Given the description of an element on the screen output the (x, y) to click on. 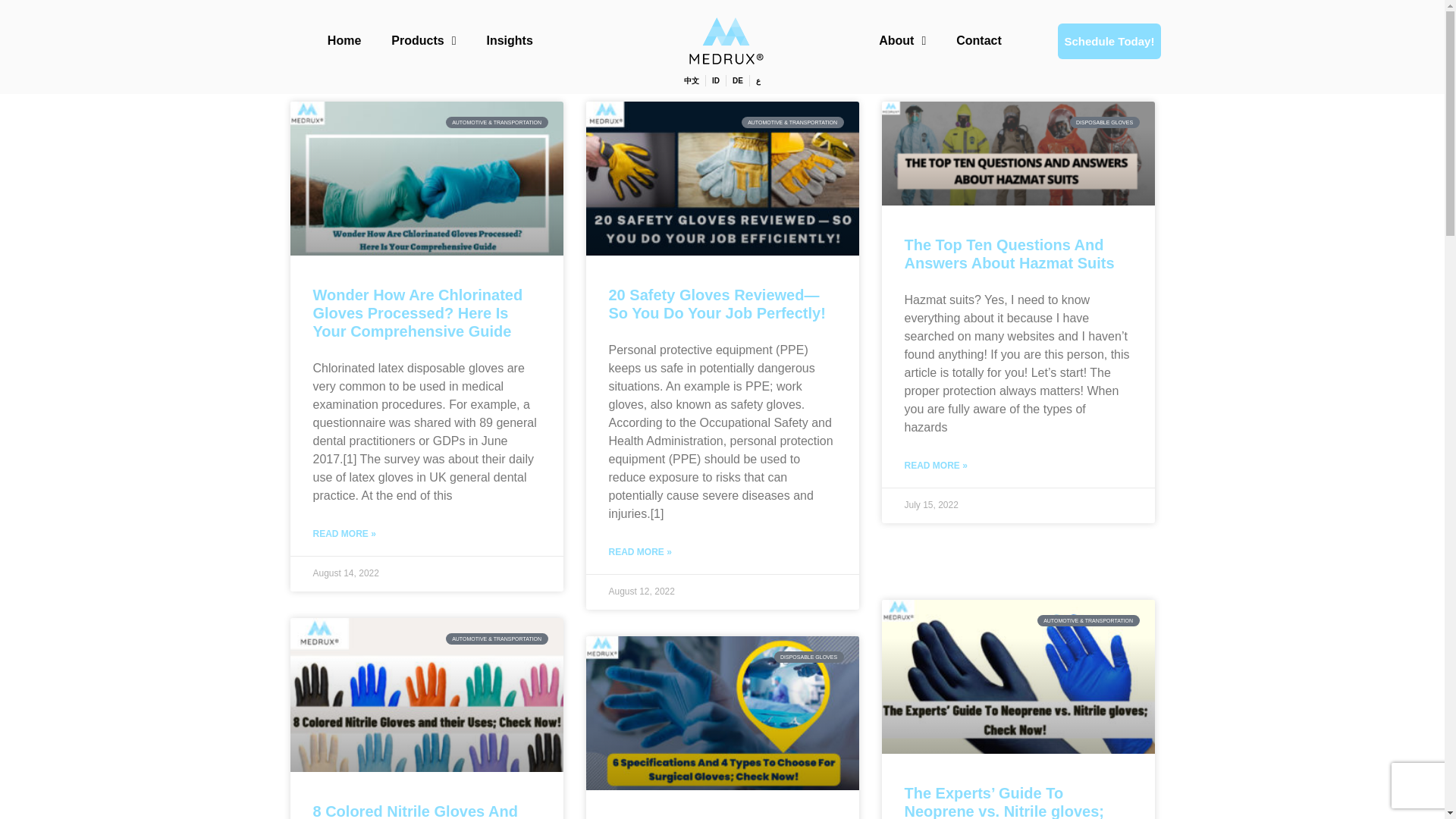
Insights (509, 40)
Home (344, 40)
About (901, 40)
Products (422, 40)
Contact (978, 40)
